Given the description of an element on the screen output the (x, y) to click on. 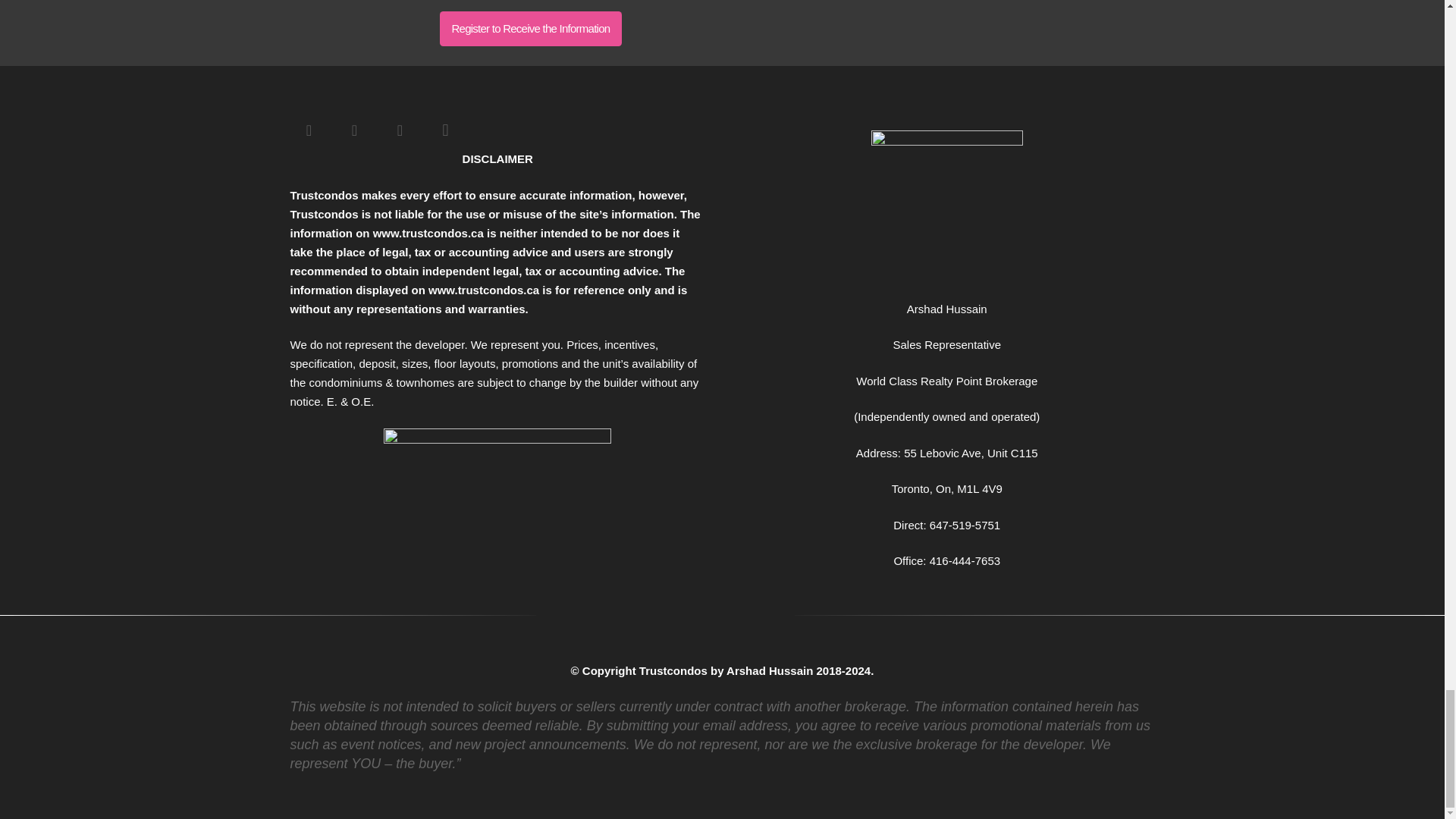
Facebook (308, 130)
YouTube (399, 130)
Instagram (445, 130)
Register to Receive the Information (530, 28)
Twitter (353, 130)
